Given the description of an element on the screen output the (x, y) to click on. 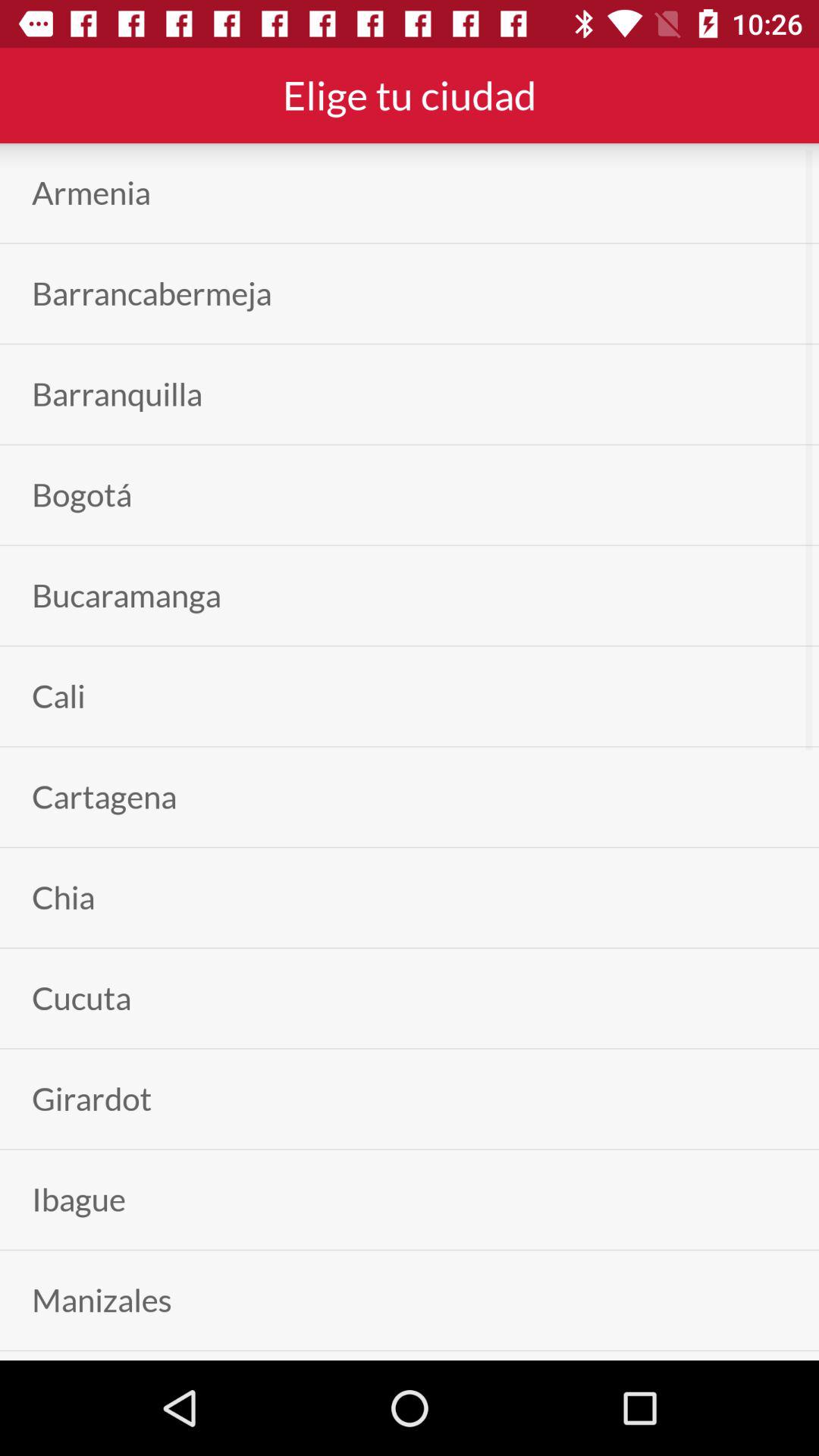
flip until the cartagena item (103, 797)
